Given the description of an element on the screen output the (x, y) to click on. 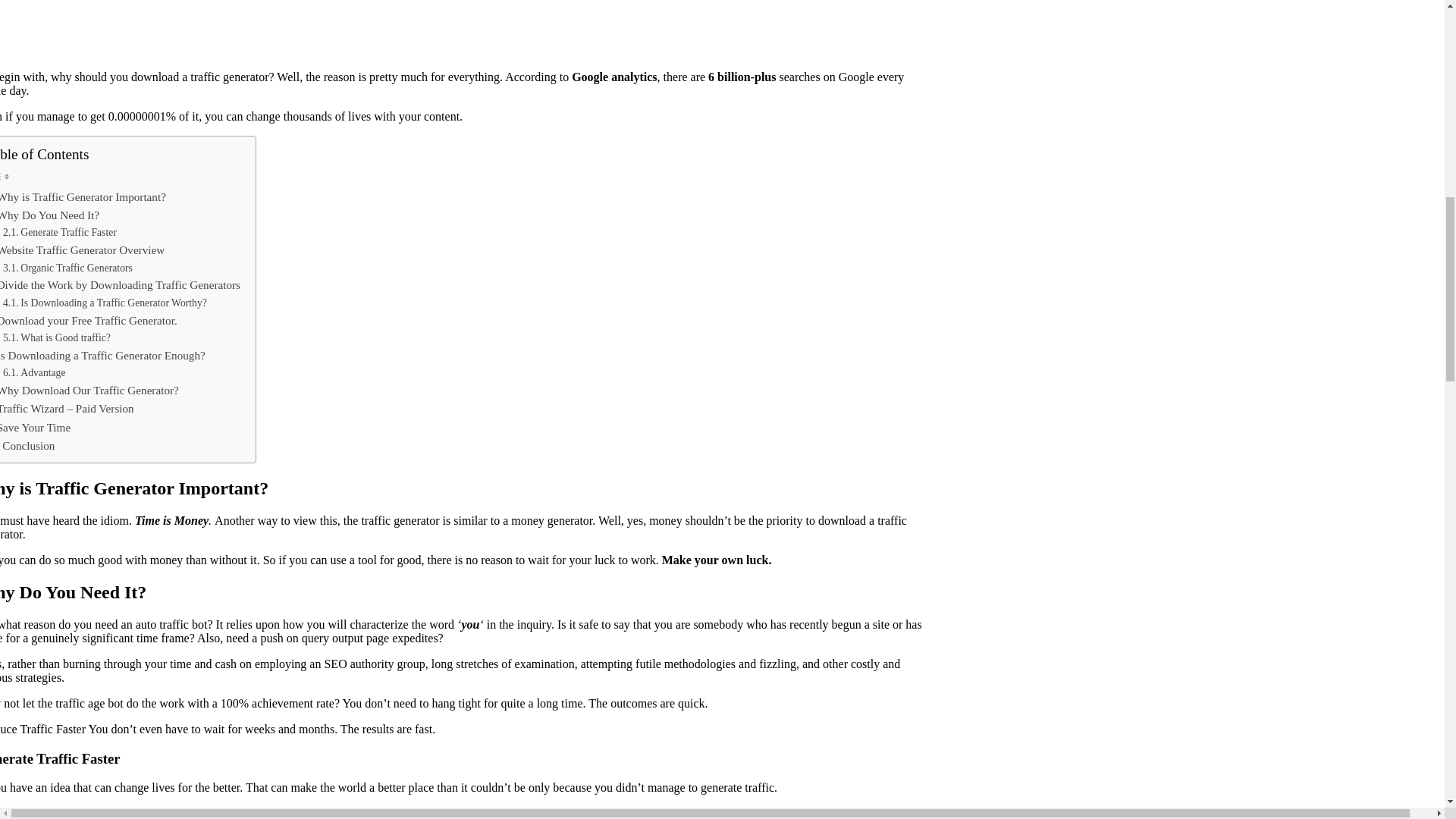
Traffic Generator Download Boost your Website Rank (433, 27)
Download your Free Traffic Generator. (88, 321)
Why is Traffic Generator Important? (82, 197)
Website Traffic Generator Overview (82, 249)
Why Do You Need It? (49, 215)
Advantage (33, 372)
Generate Traffic Faster (59, 232)
Why is Traffic Generator Important? (82, 197)
Organic Traffic Generators (67, 268)
Divide the Work by Downloading Traffic Generators (120, 285)
